Given the description of an element on the screen output the (x, y) to click on. 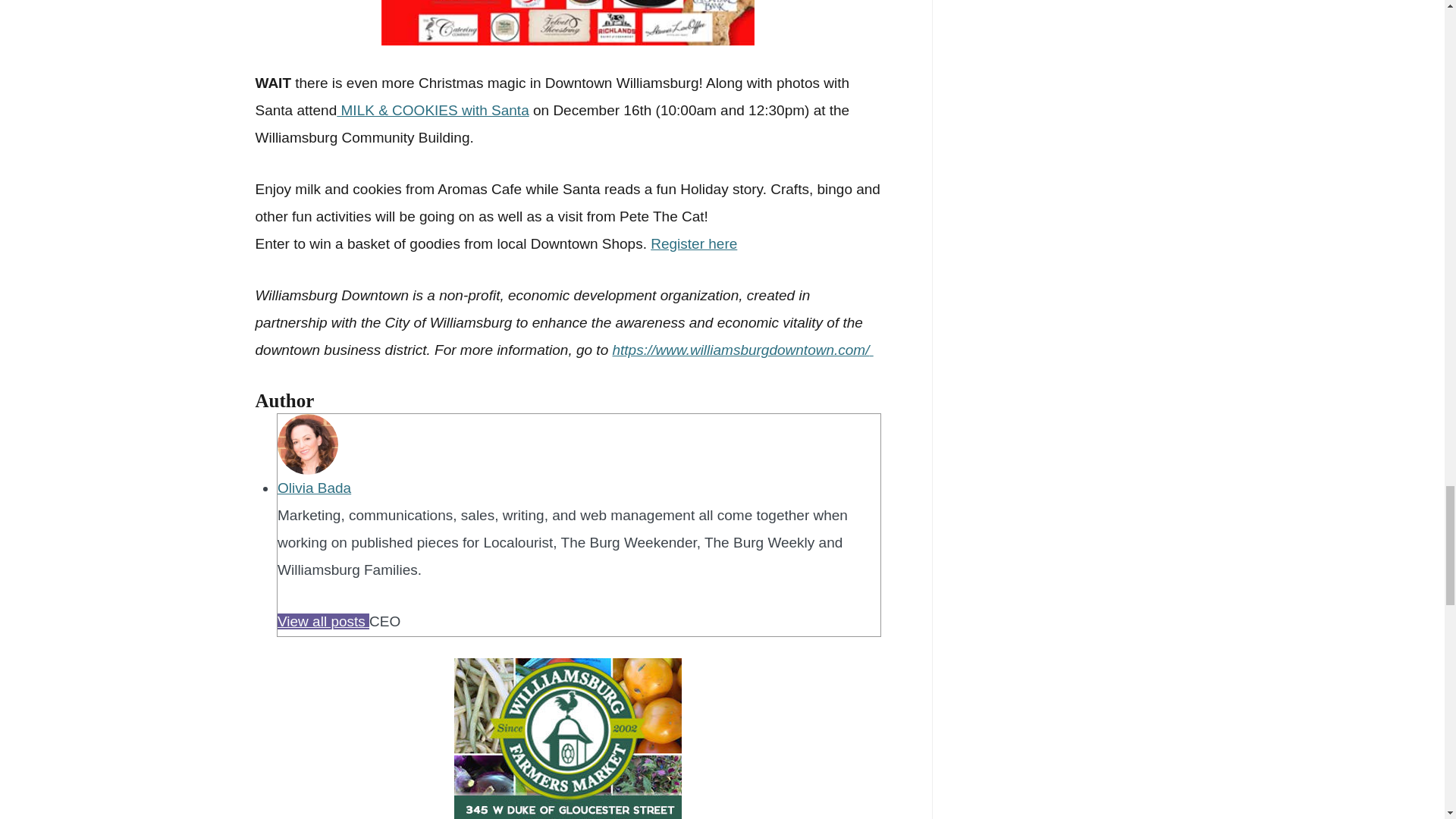
Olivia Bada (314, 487)
View all posts (323, 621)
